Given the description of an element on the screen output the (x, y) to click on. 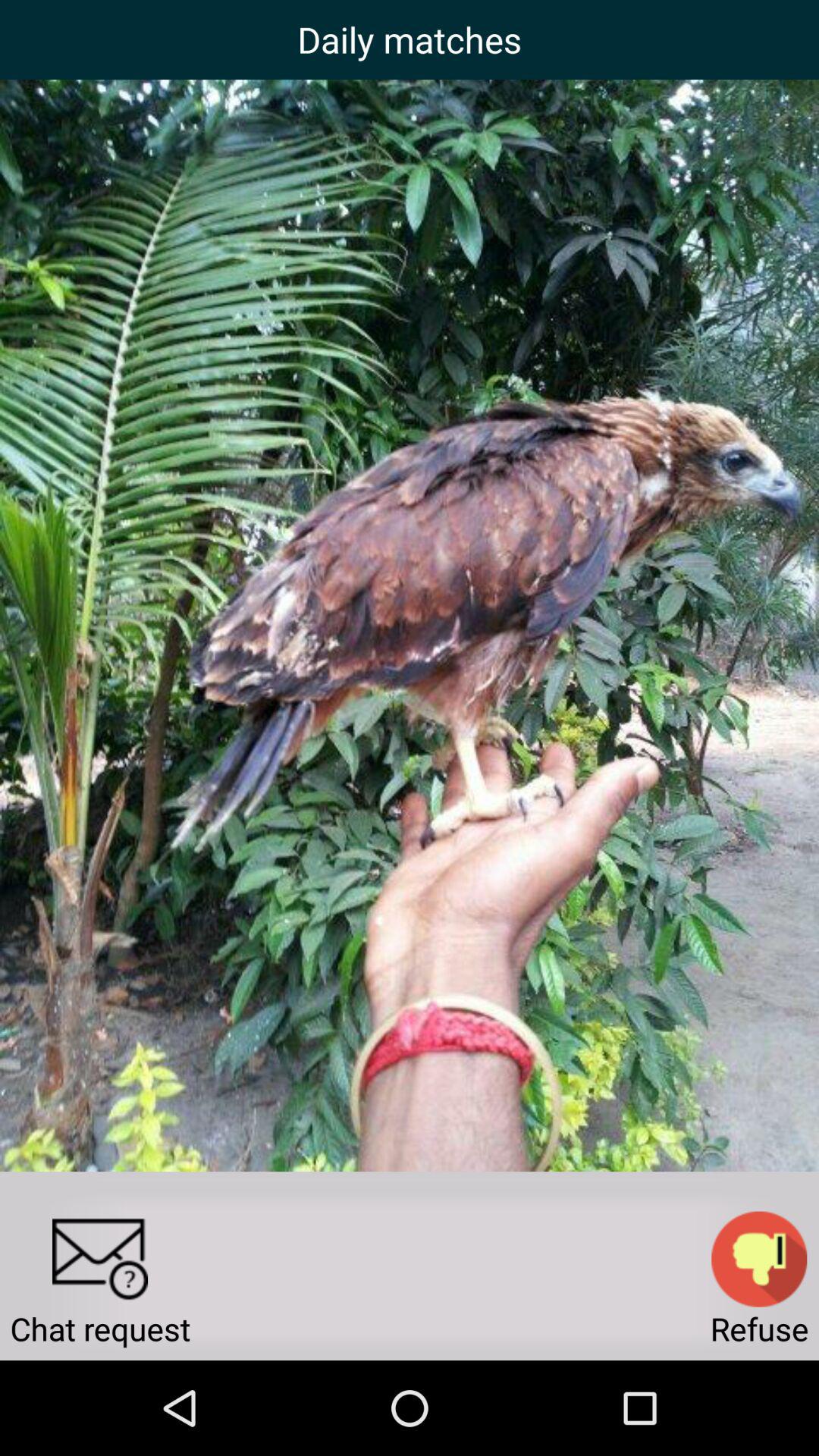
refuse button (759, 1258)
